Given the description of an element on the screen output the (x, y) to click on. 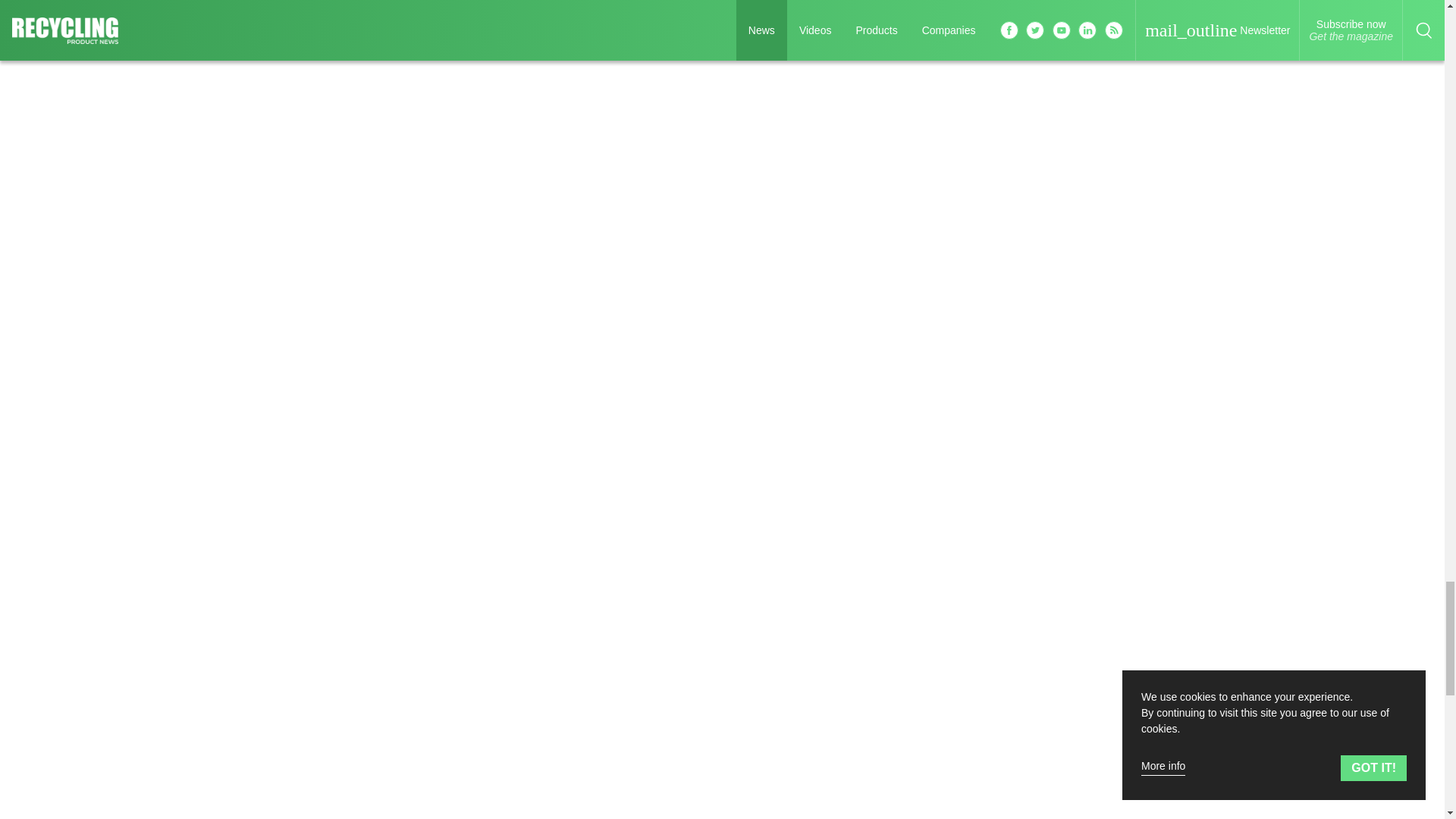
3rd party ad content (1125, 52)
3rd party ad content (1125, 372)
